Given the description of an element on the screen output the (x, y) to click on. 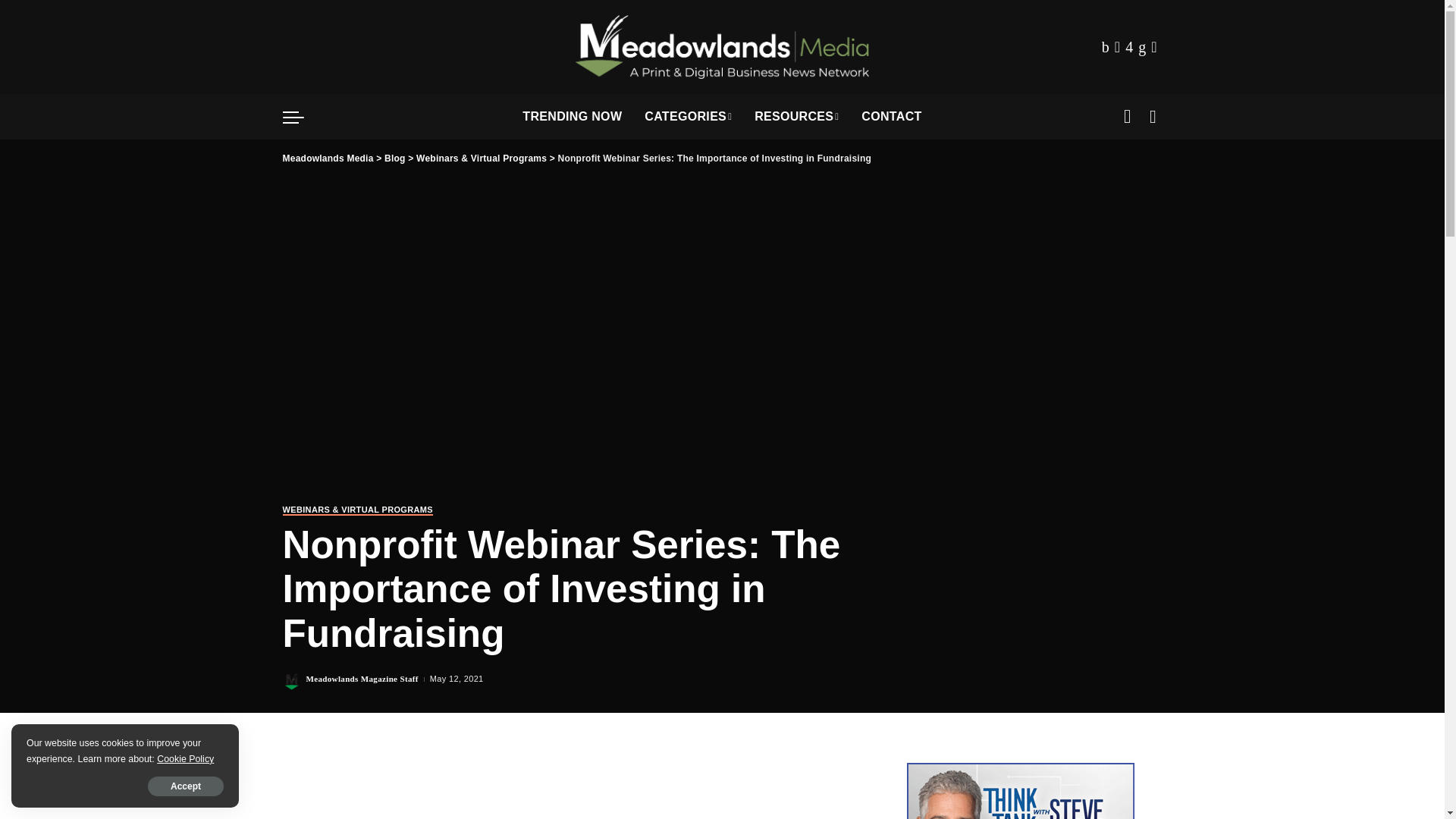
2021-05-12T15:19:00-04:00 (456, 678)
Meadowlands Media (722, 46)
Go to Meadowlands Media. (327, 158)
Go to Blog. (395, 158)
